Given the description of an element on the screen output the (x, y) to click on. 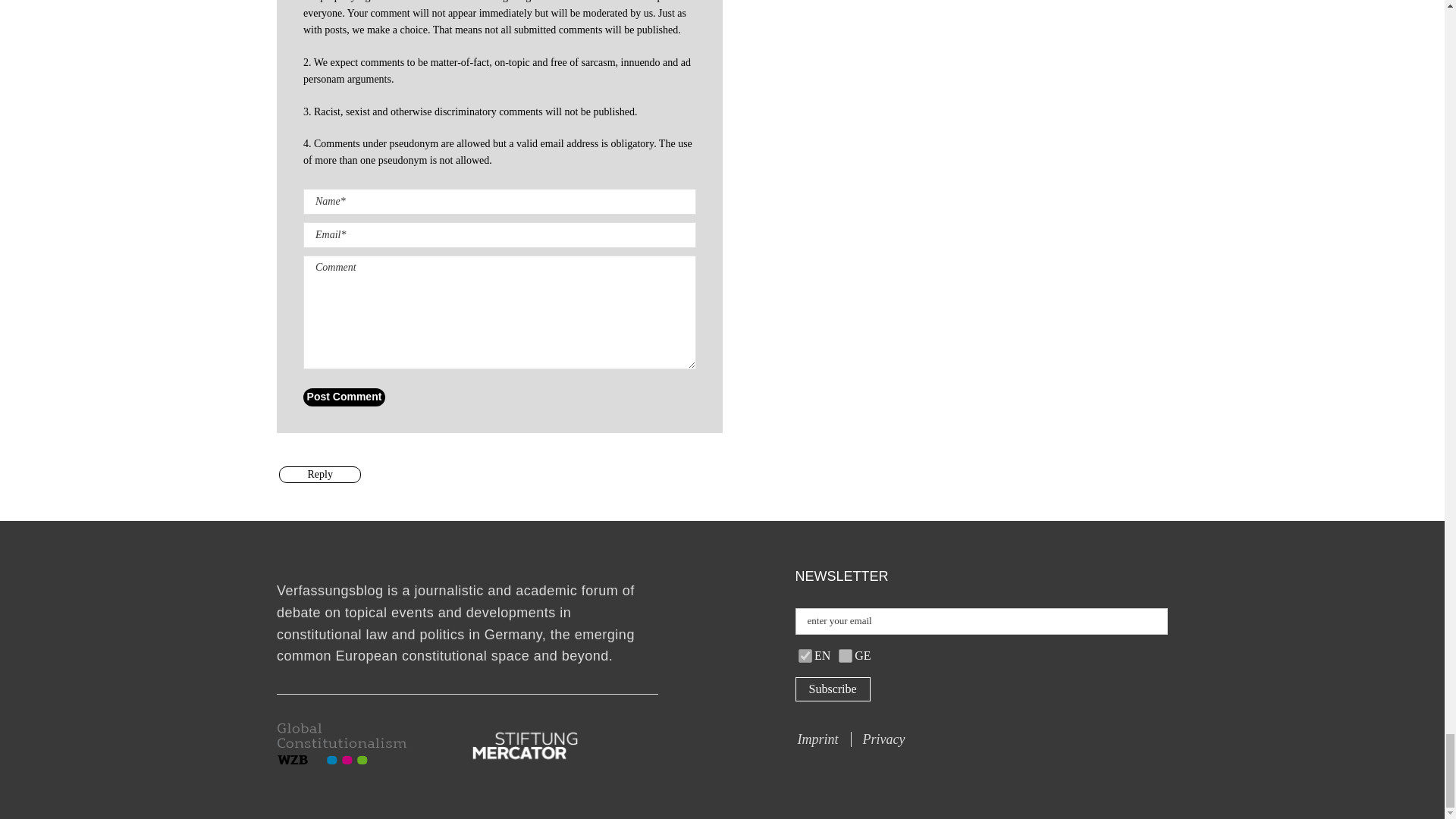
2 (804, 655)
Subscribe (831, 689)
1 (844, 655)
Post Comment (343, 397)
